Given the description of an element on the screen output the (x, y) to click on. 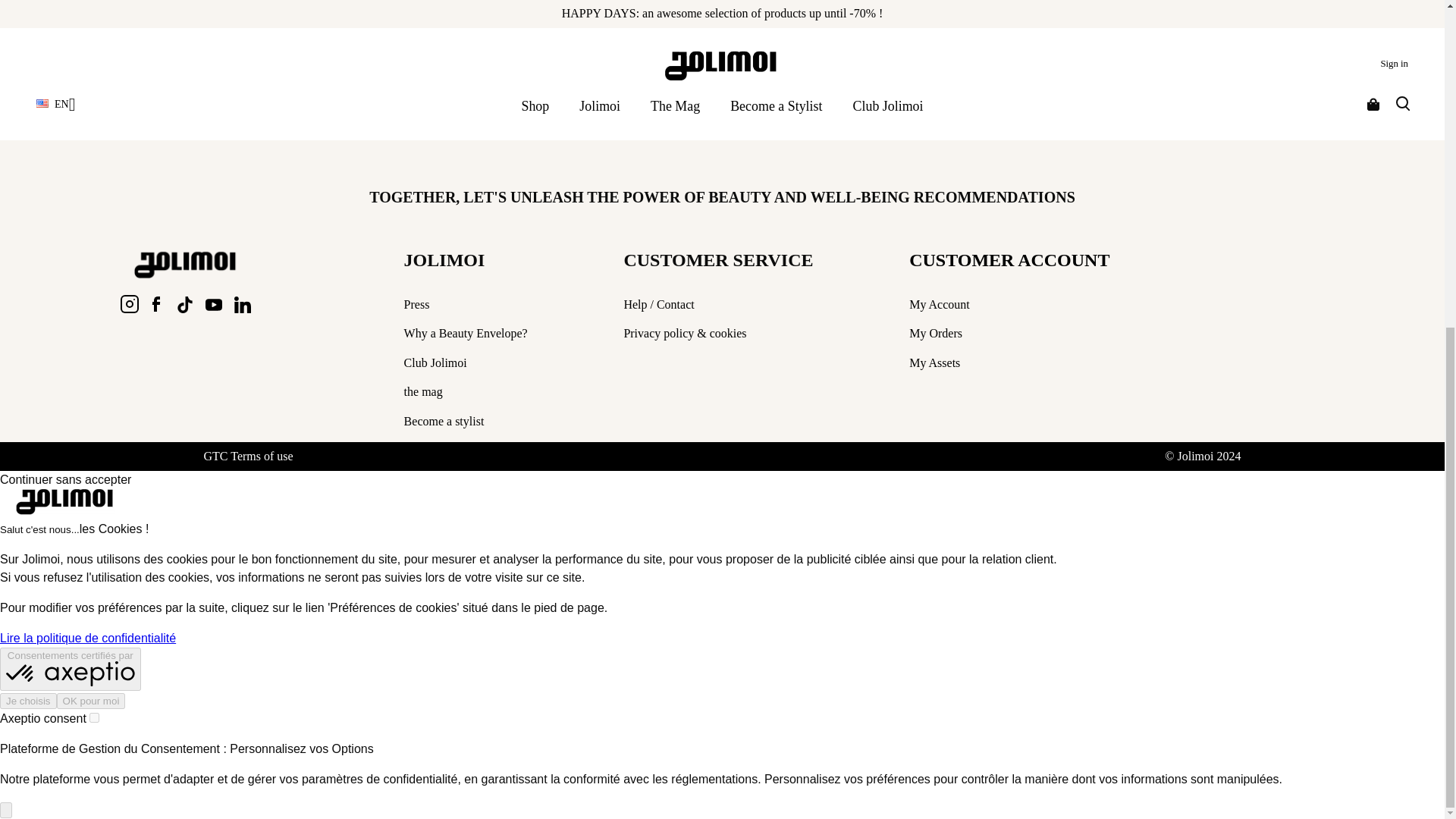
My Account (938, 304)
My Orders (935, 332)
My Assets (933, 362)
